Given the description of an element on the screen output the (x, y) to click on. 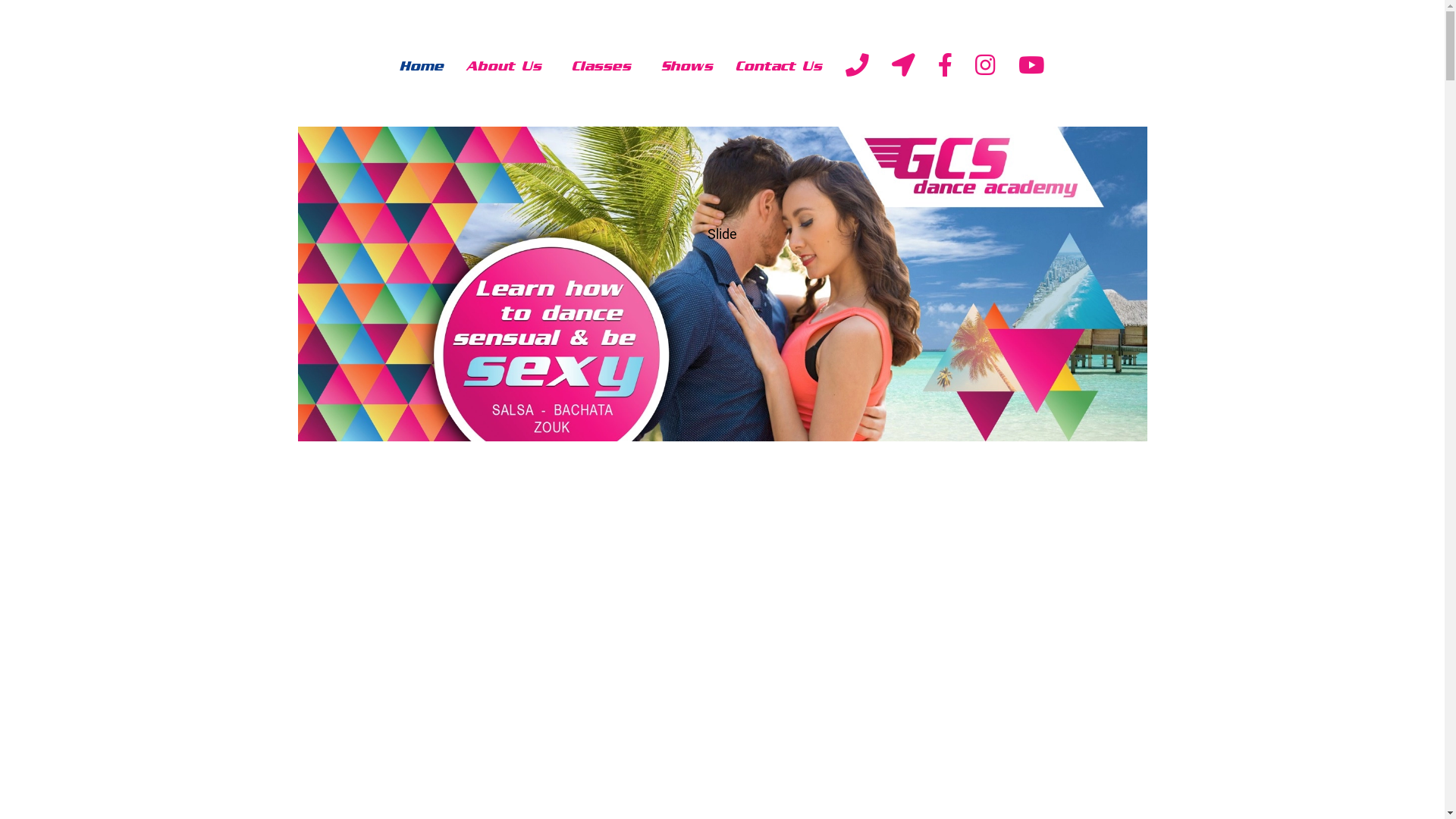
instagram Element type: text (985, 68)
Facebook Element type: text (944, 68)
Directions Element type: text (903, 68)
0450072572 Element type: text (857, 68)
# Element type: text (1031, 68)
Contact Us Element type: text (779, 66)
Shows Element type: text (687, 66)
Classes Element type: text (605, 66)
Home Element type: text (422, 66)
About Us Element type: text (508, 66)
